Given the description of an element on the screen output the (x, y) to click on. 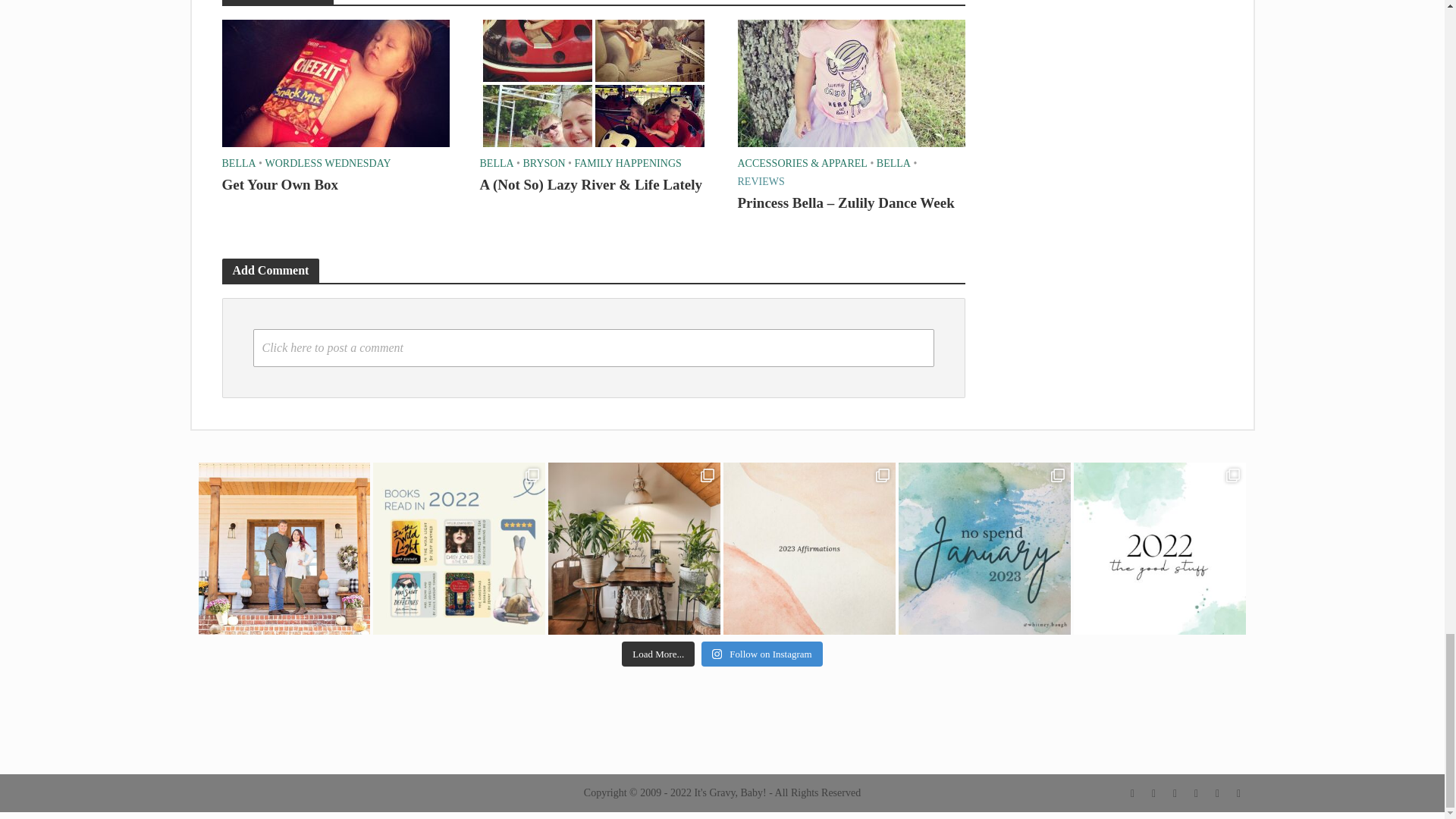
Get Your Own Box (334, 82)
